Given the description of an element on the screen output the (x, y) to click on. 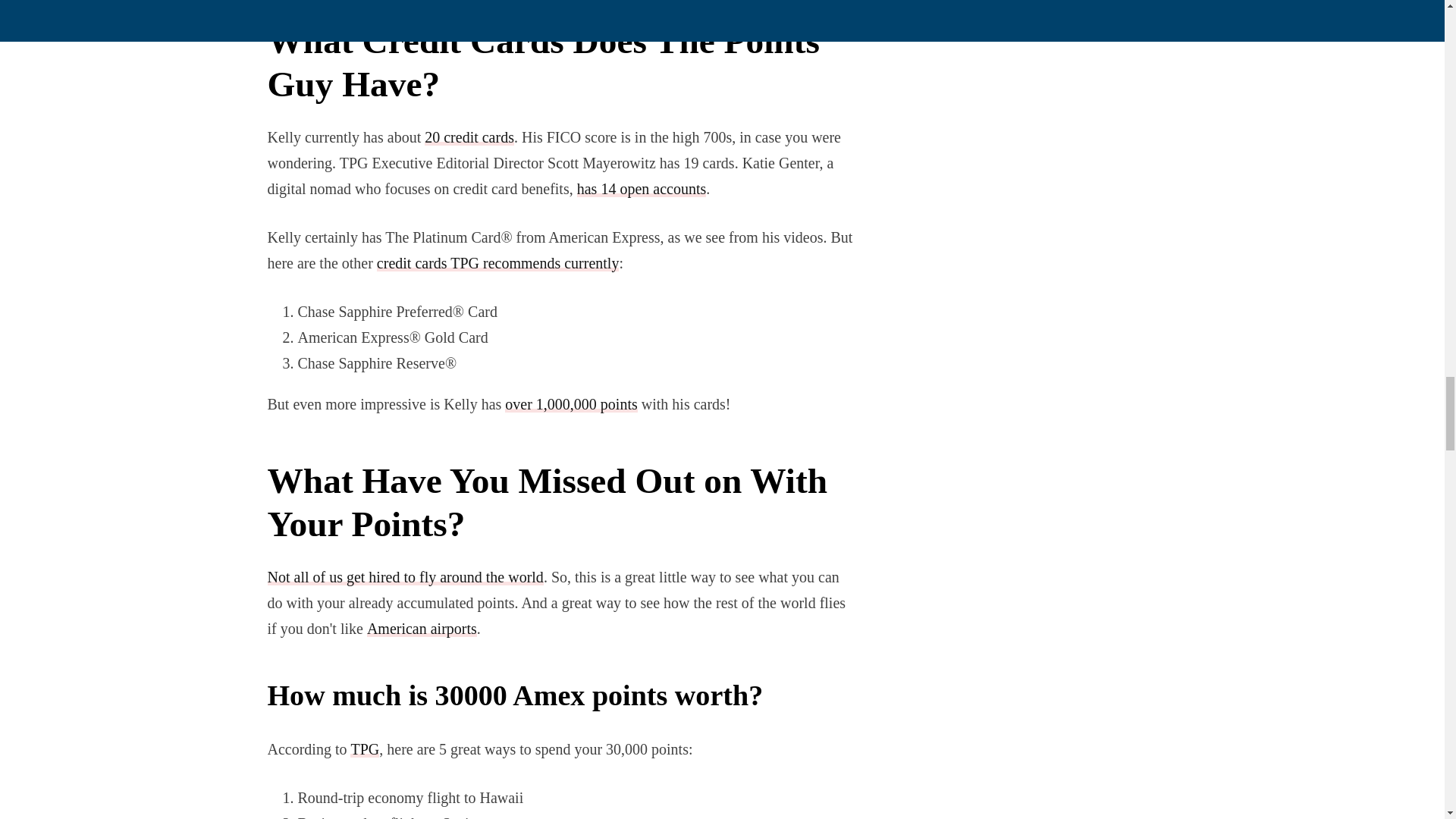
has 14 open accounts (641, 188)
over 1,000,000 points (571, 403)
credit cards TPG recommends currently (498, 262)
20 credit cards (469, 136)
TPG (364, 749)
American airports (421, 628)
Not all of us get hired to fly around the world (404, 576)
